Given the description of an element on the screen output the (x, y) to click on. 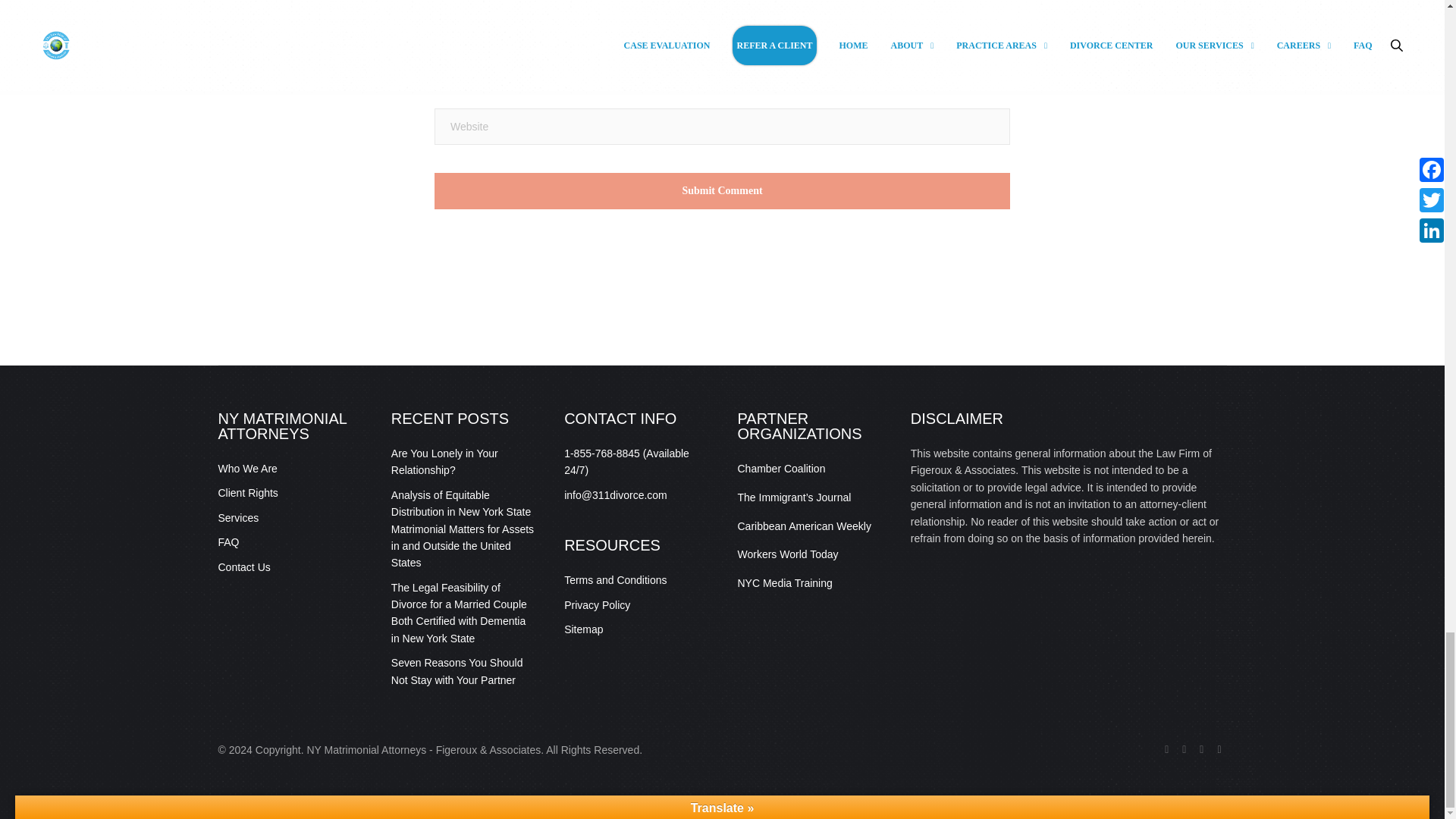
Submit Comment (721, 190)
